Given the description of an element on the screen output the (x, y) to click on. 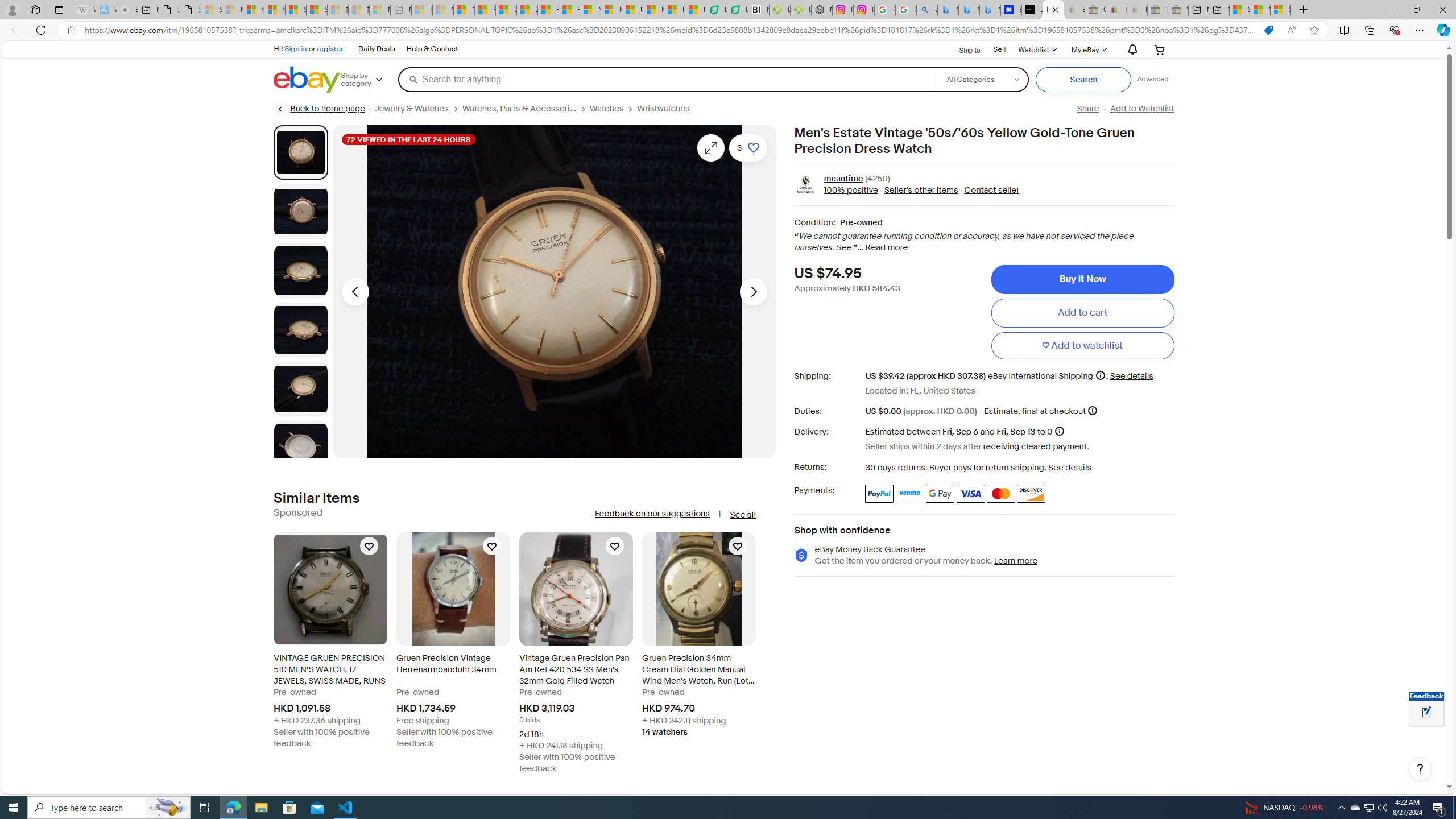
Sign in to your Microsoft account - Sleeping (211, 9)
Feedback on our suggestions (652, 513)
Picture 2 of 8 (300, 211)
Threats and offensive language policy | eBay (1115, 9)
Previous image - Item images thumbnails (354, 291)
Press Room - eBay Inc. - Sleeping (1157, 9)
Add to cart (1082, 312)
Top Stories - MSN - Sleeping (421, 9)
Yard, Garden & Outdoor Living - Sleeping (1178, 9)
Share (1087, 108)
Read more about condition (886, 247)
